Given the description of an element on the screen output the (x, y) to click on. 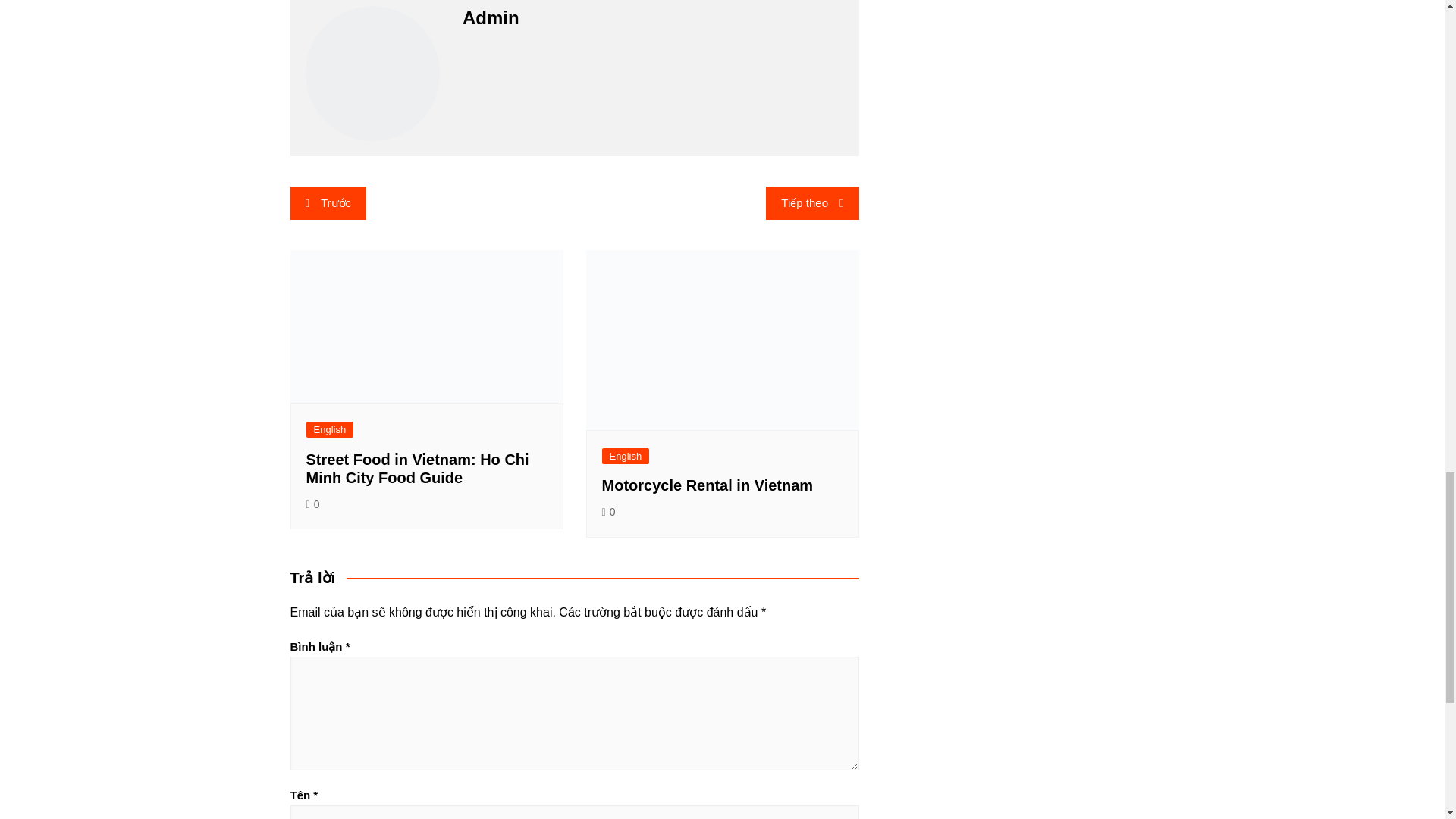
English (625, 455)
English (329, 429)
Street Food in Vietnam: Ho Chi Minh City Food Guide (417, 468)
Motorcycle Rental in Vietnam (707, 484)
